Given the description of an element on the screen output the (x, y) to click on. 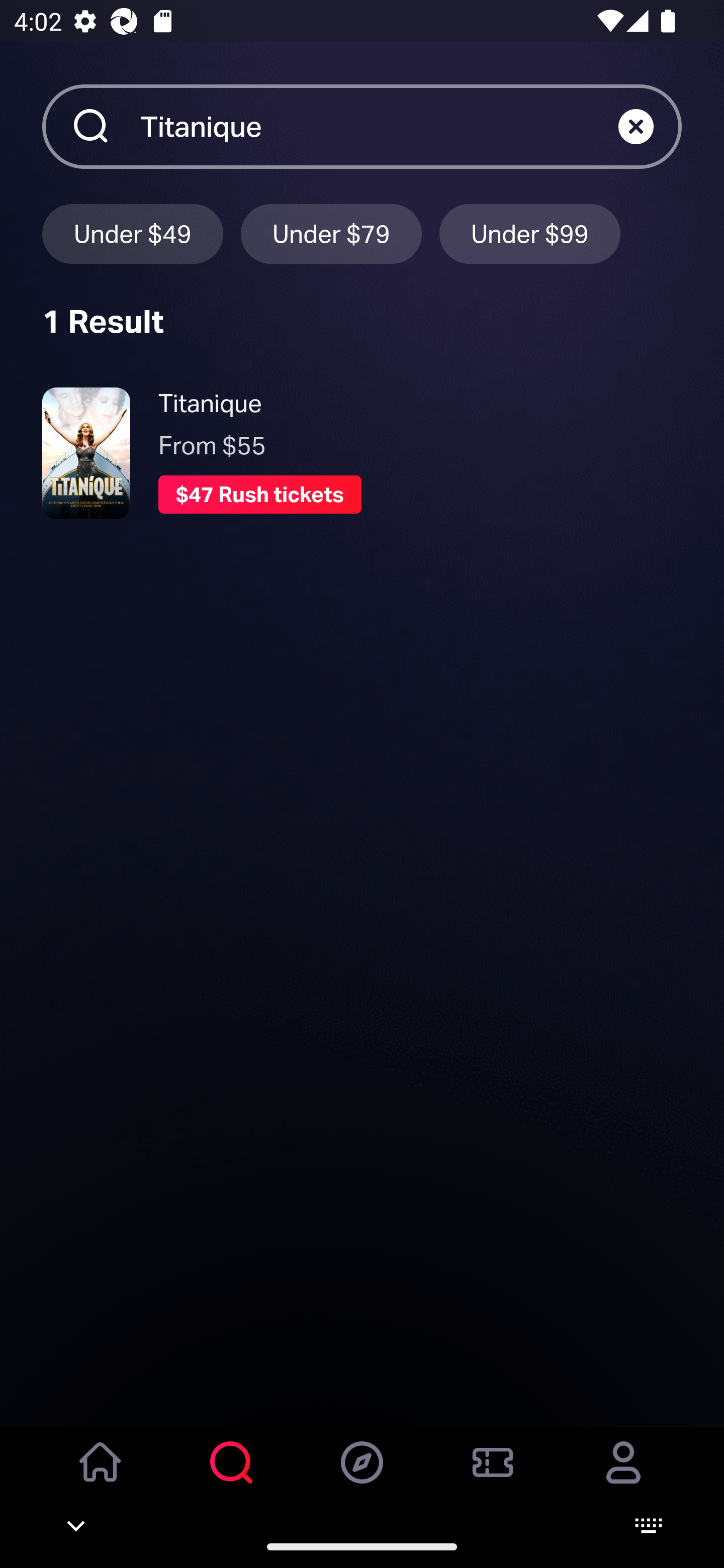
Titanique (379, 126)
Under $49 (131, 233)
Under $79 (331, 233)
Under $99 (529, 233)
Home (100, 1475)
Discover (361, 1475)
Orders (492, 1475)
Account (623, 1475)
